Given the description of an element on the screen output the (x, y) to click on. 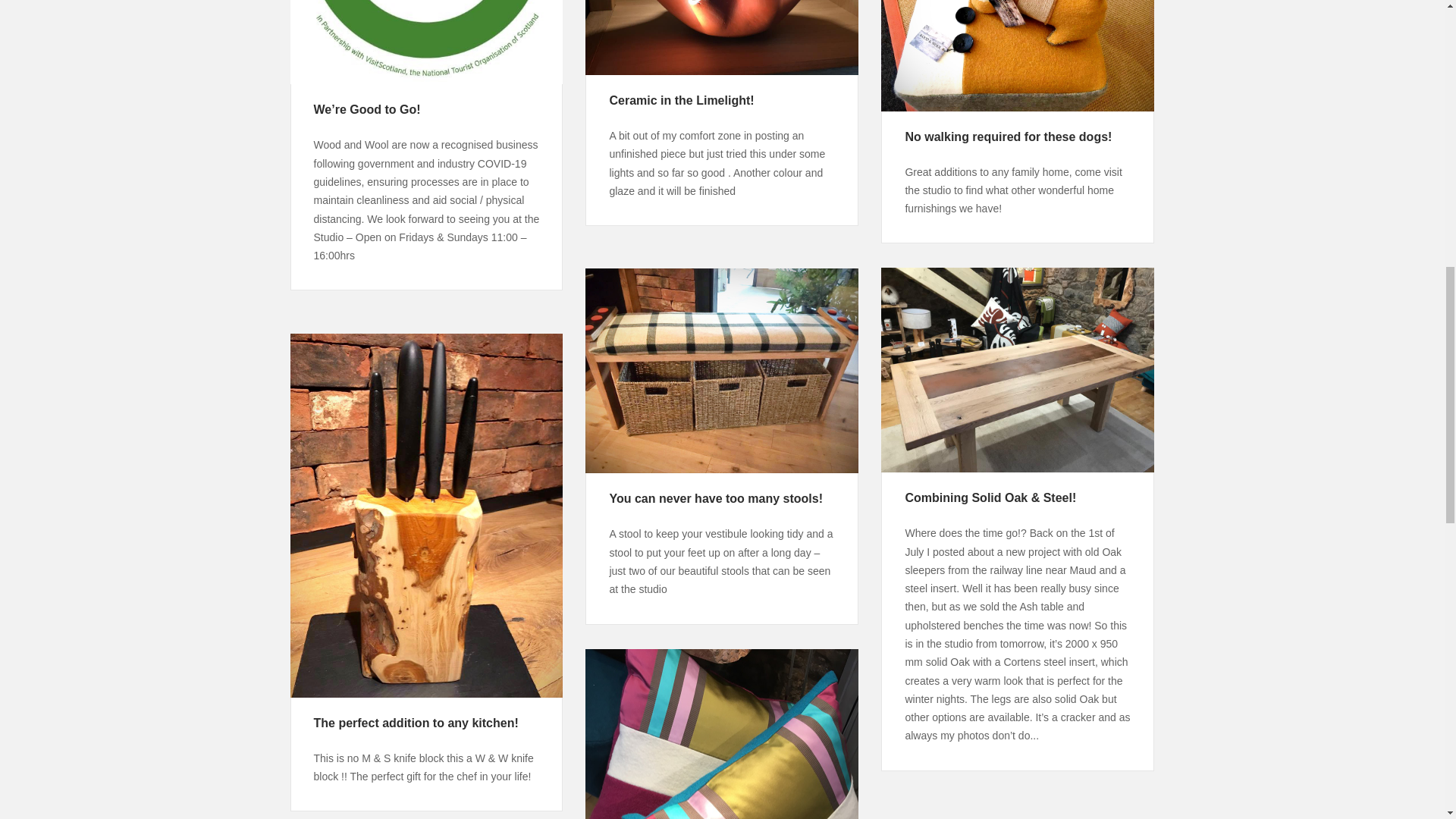
The perfect addition to any kitchen! (416, 722)
You can never have too many stools! (715, 498)
No walking required for these dogs! (1008, 136)
Ceramic in the Limelight! (681, 100)
